Given the description of an element on the screen output the (x, y) to click on. 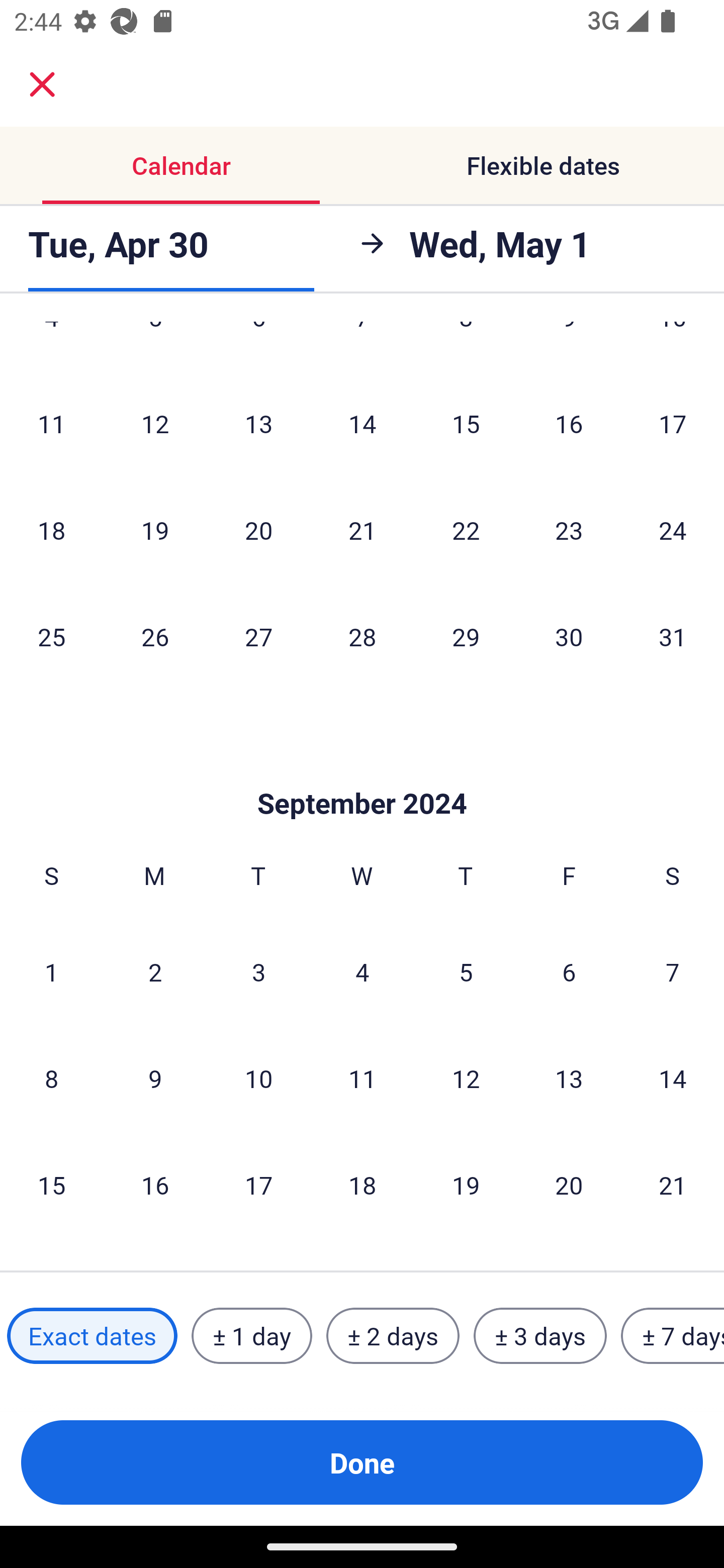
close. (42, 84)
Flexible dates (542, 164)
11 Sunday, August 11, 2024 (51, 423)
12 Monday, August 12, 2024 (155, 423)
13 Tuesday, August 13, 2024 (258, 423)
14 Wednesday, August 14, 2024 (362, 423)
15 Thursday, August 15, 2024 (465, 423)
16 Friday, August 16, 2024 (569, 423)
17 Saturday, August 17, 2024 (672, 423)
18 Sunday, August 18, 2024 (51, 529)
19 Monday, August 19, 2024 (155, 529)
20 Tuesday, August 20, 2024 (258, 529)
21 Wednesday, August 21, 2024 (362, 529)
22 Thursday, August 22, 2024 (465, 529)
23 Friday, August 23, 2024 (569, 529)
24 Saturday, August 24, 2024 (672, 529)
25 Sunday, August 25, 2024 (51, 636)
26 Monday, August 26, 2024 (155, 636)
27 Tuesday, August 27, 2024 (258, 636)
28 Wednesday, August 28, 2024 (362, 636)
29 Thursday, August 29, 2024 (465, 636)
30 Friday, August 30, 2024 (569, 636)
31 Saturday, August 31, 2024 (672, 636)
Skip to Done (362, 772)
1 Sunday, September 1, 2024 (51, 971)
2 Monday, September 2, 2024 (155, 971)
3 Tuesday, September 3, 2024 (258, 971)
4 Wednesday, September 4, 2024 (362, 971)
5 Thursday, September 5, 2024 (465, 971)
6 Friday, September 6, 2024 (569, 971)
7 Saturday, September 7, 2024 (672, 971)
8 Sunday, September 8, 2024 (51, 1078)
9 Monday, September 9, 2024 (155, 1078)
10 Tuesday, September 10, 2024 (258, 1078)
11 Wednesday, September 11, 2024 (362, 1078)
12 Thursday, September 12, 2024 (465, 1078)
13 Friday, September 13, 2024 (569, 1078)
14 Saturday, September 14, 2024 (672, 1078)
15 Sunday, September 15, 2024 (51, 1184)
16 Monday, September 16, 2024 (155, 1184)
17 Tuesday, September 17, 2024 (258, 1184)
18 Wednesday, September 18, 2024 (362, 1184)
19 Thursday, September 19, 2024 (465, 1184)
20 Friday, September 20, 2024 (569, 1184)
21 Saturday, September 21, 2024 (672, 1184)
Exact dates (92, 1335)
± 1 day (251, 1335)
± 2 days (392, 1335)
± 3 days (539, 1335)
± 7 days (672, 1335)
Done (361, 1462)
